Given the description of an element on the screen output the (x, y) to click on. 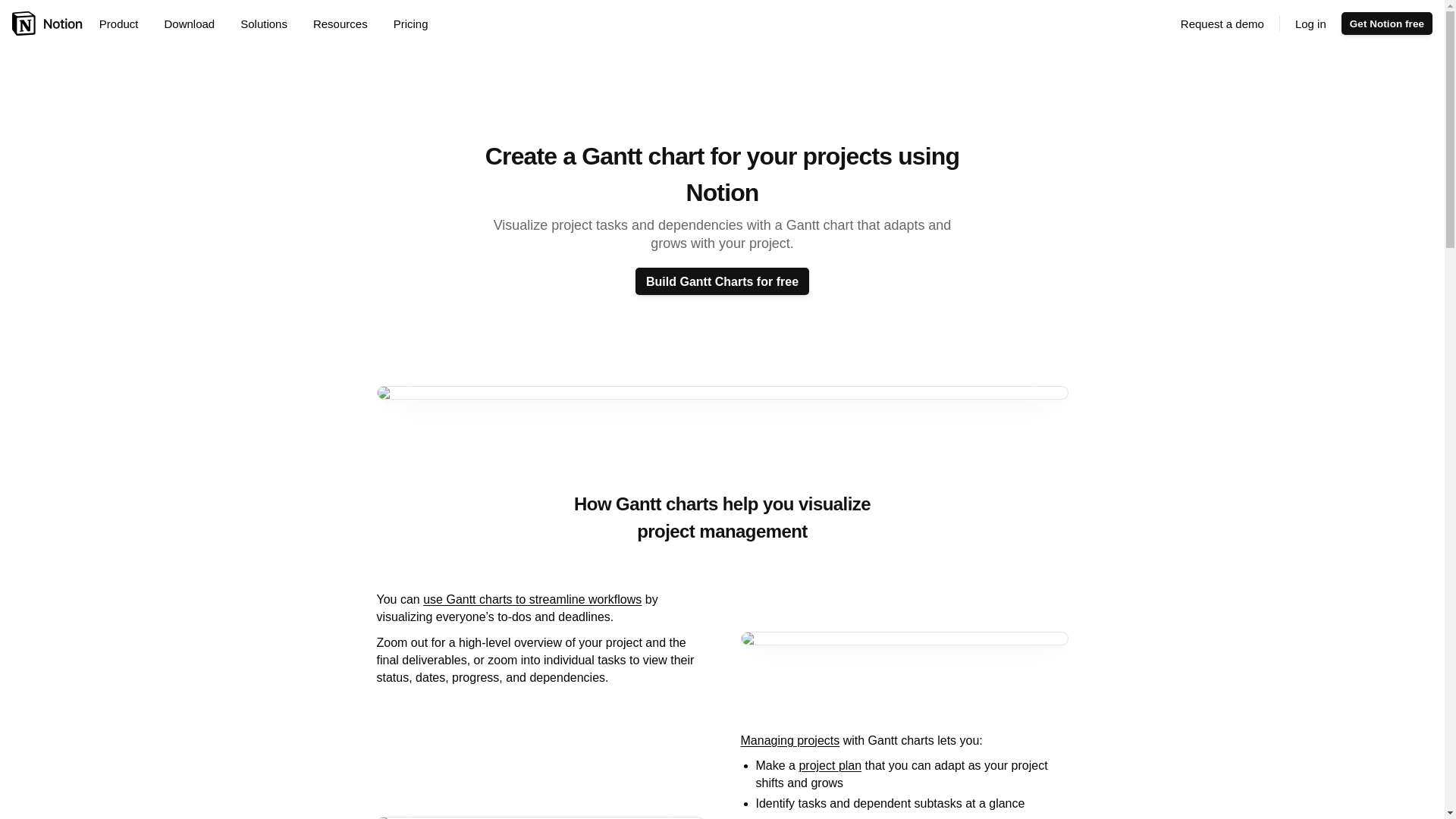
Product (124, 23)
Download (193, 23)
Solutions (268, 23)
Request a demo (1222, 23)
Resources (345, 23)
Pricing (410, 23)
